Given the description of an element on the screen output the (x, y) to click on. 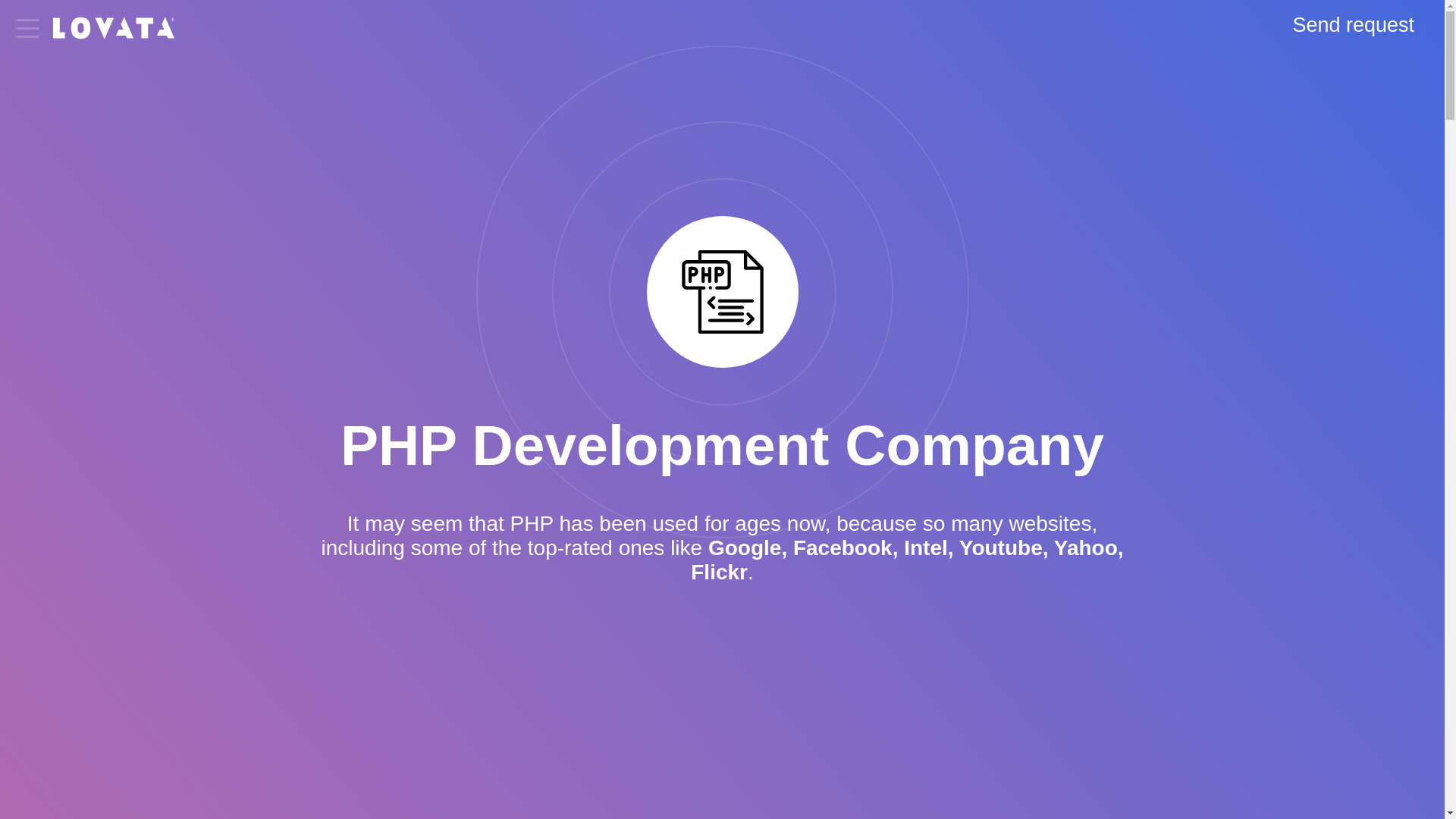
Send request (1352, 24)
Development Process (118, 215)
Tools and Technologies (124, 250)
Blog (38, 320)
Careers (54, 354)
Laravel Development Services (137, 168)
Portfolio (56, 285)
Contacts (59, 390)
Send request (102, 689)
Home (46, 87)
What We Do (76, 122)
